Given the description of an element on the screen output the (x, y) to click on. 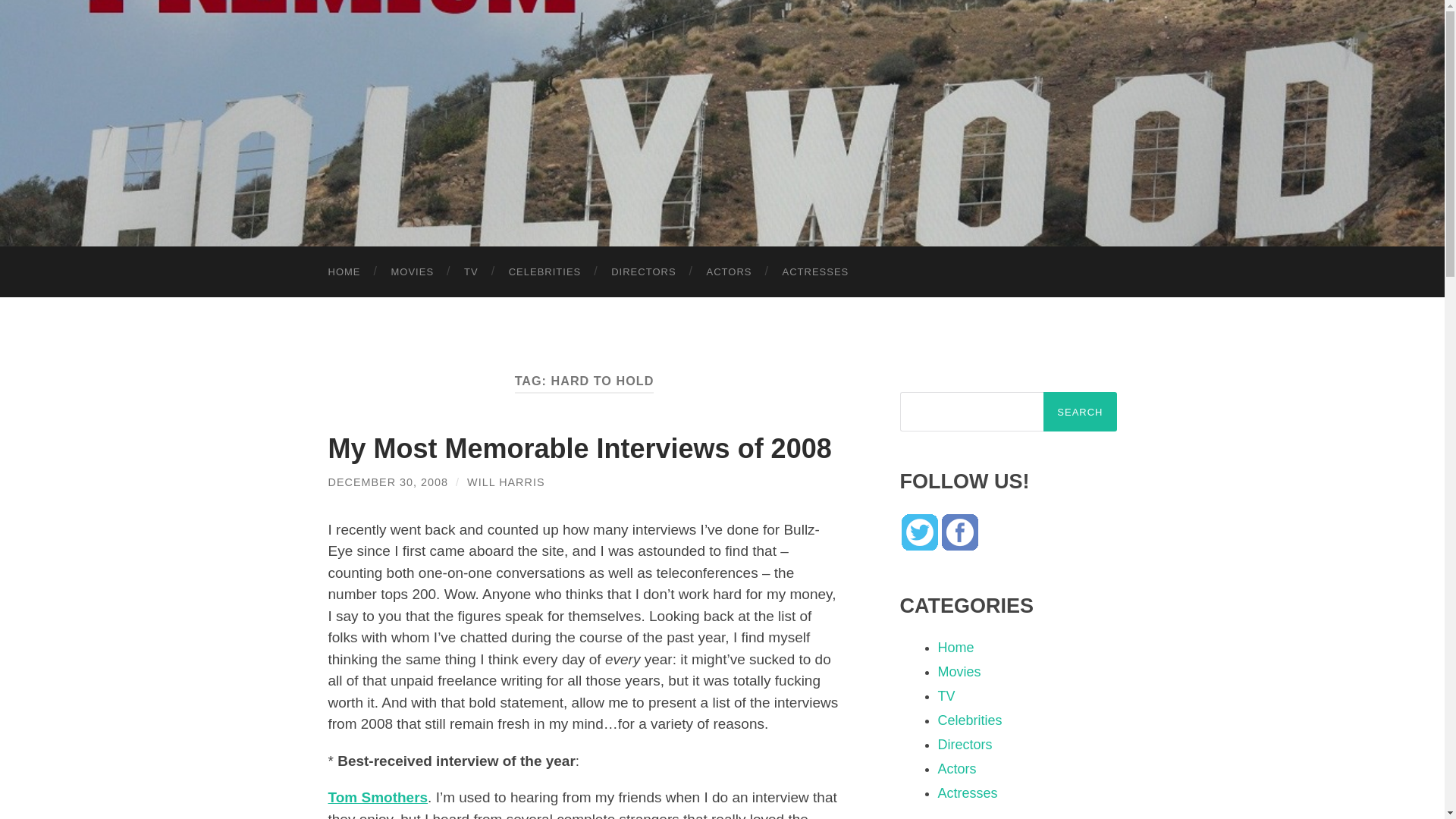
HOME (344, 271)
WILL HARRIS (505, 481)
ACTRESSES (815, 271)
Posts by Will Harris (505, 481)
Search (1079, 411)
DIRECTORS (642, 271)
Tom Smothers (377, 797)
MOVIES (412, 271)
ACTORS (729, 271)
DECEMBER 30, 2008 (387, 481)
CELEBRITIES (544, 271)
My Most Memorable Interviews of 2008 (579, 448)
